Given the description of an element on the screen output the (x, y) to click on. 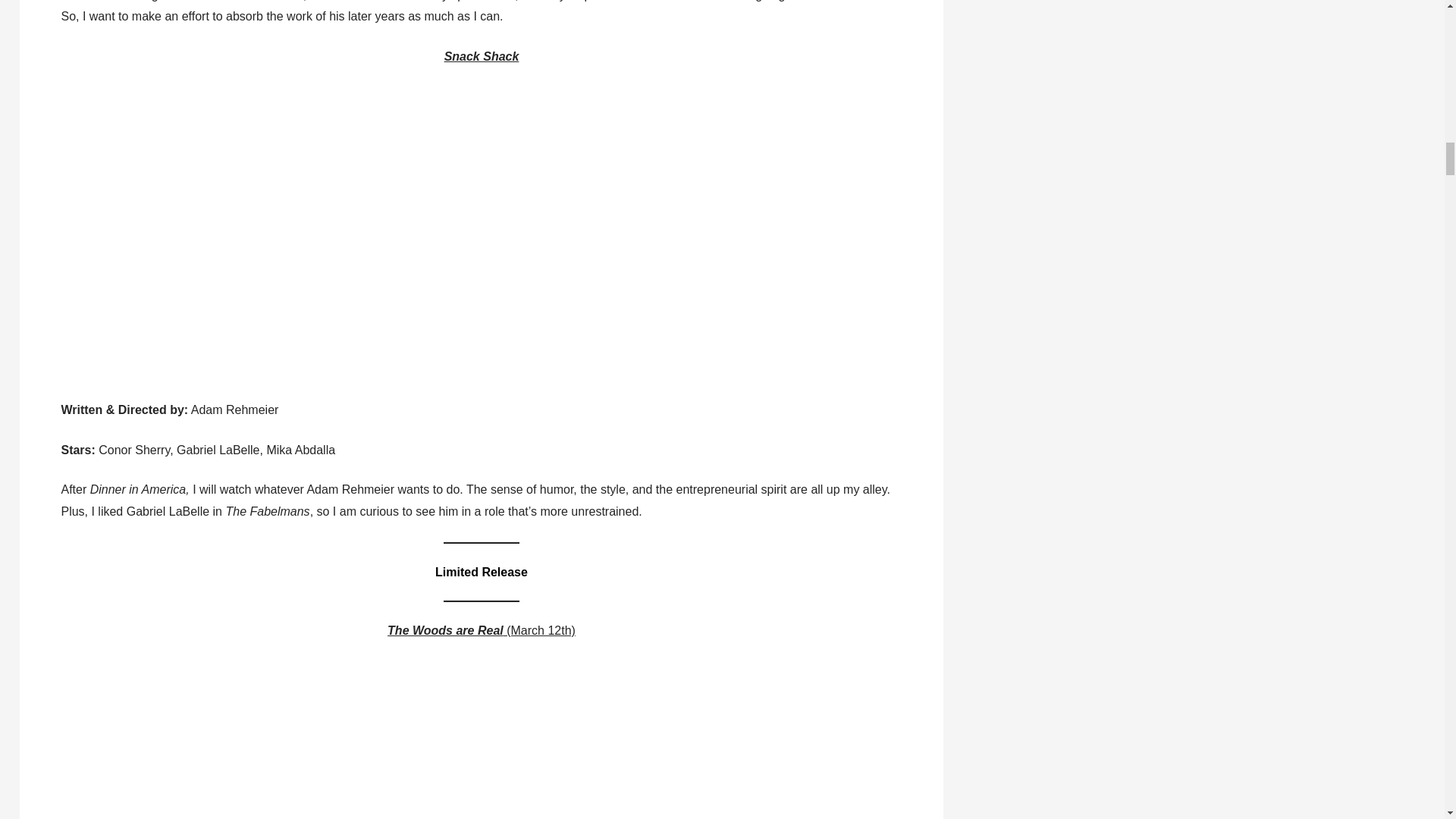
The Woods Are Real - Official Trailer - Gravitas Ventures (321, 739)
